Given the description of an element on the screen output the (x, y) to click on. 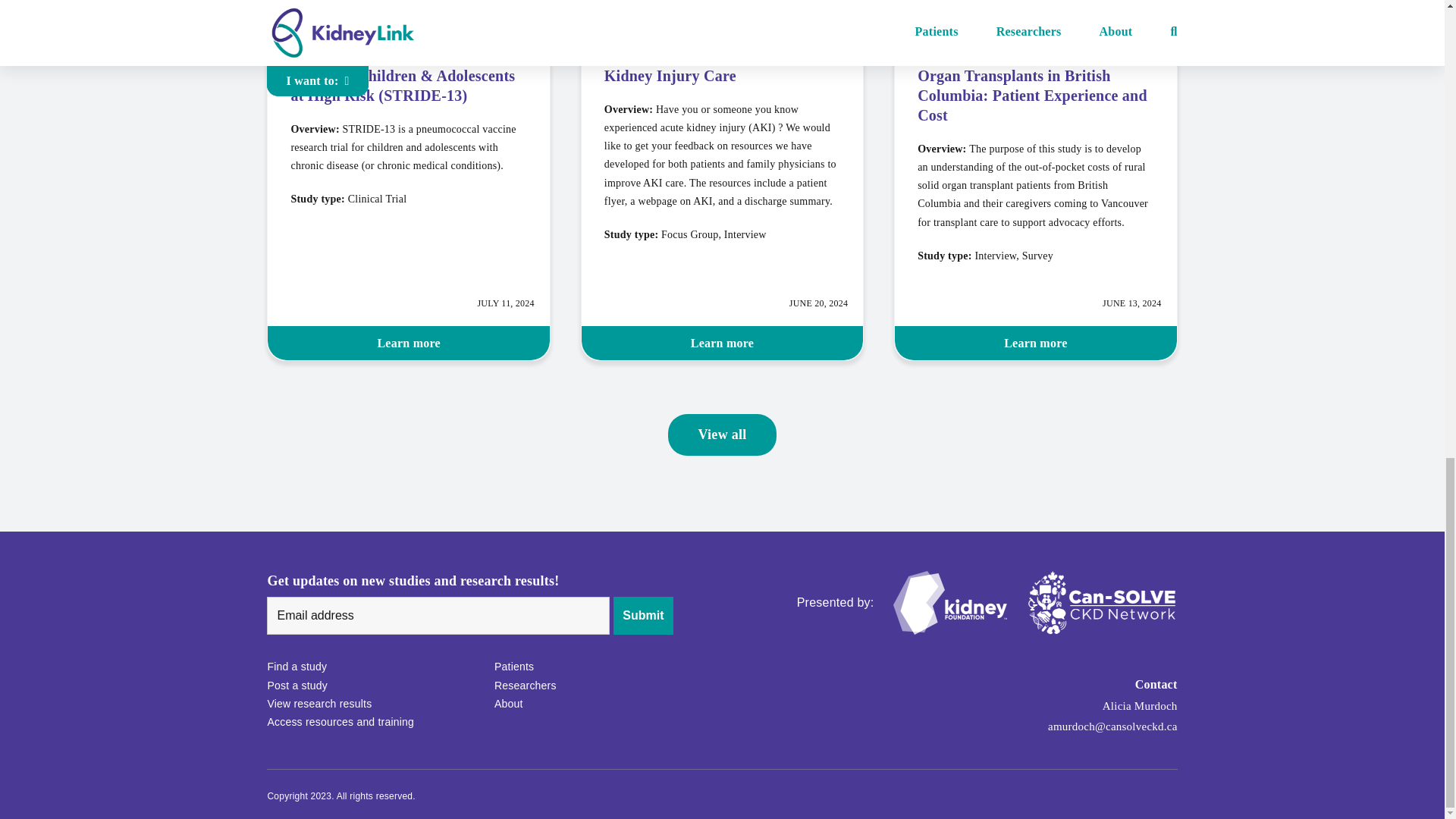
Submit (642, 615)
Learn more (1035, 342)
Learn more (407, 342)
View all (721, 434)
Find a study (371, 666)
Submit (642, 615)
Learn more (721, 342)
